Given the description of an element on the screen output the (x, y) to click on. 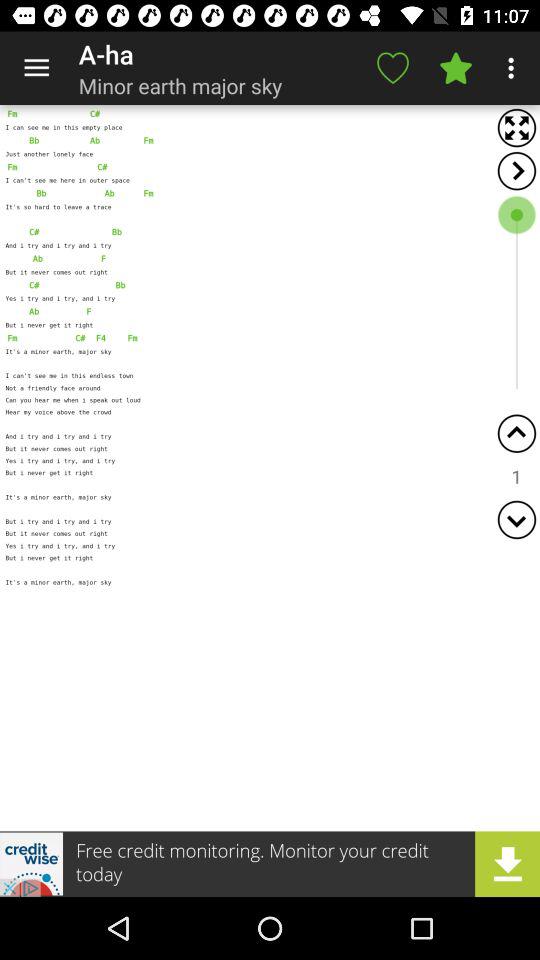
forward arrow (516, 170)
